Given the description of an element on the screen output the (x, y) to click on. 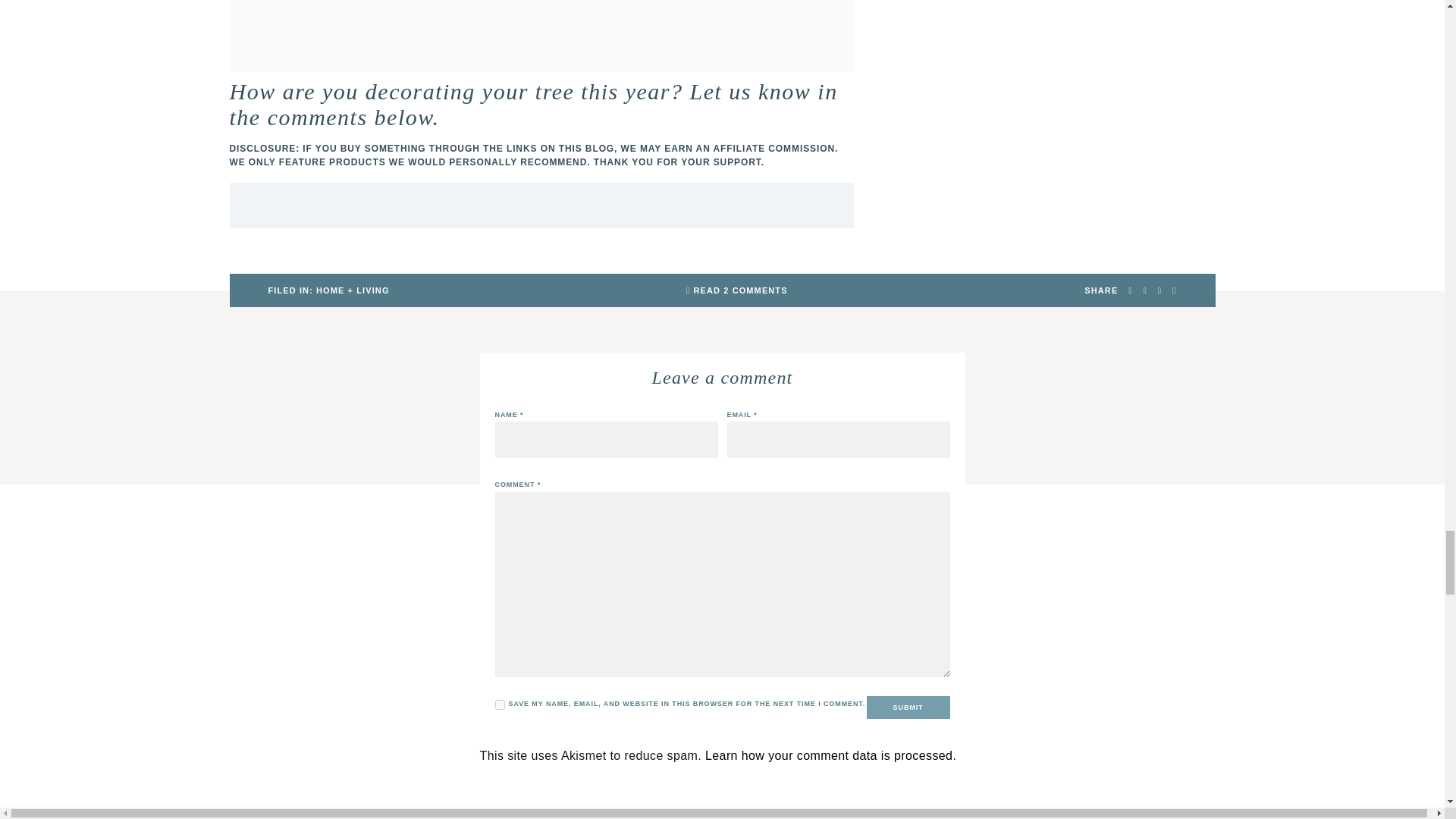
yes (499, 705)
Submit (908, 707)
